Given the description of an element on the screen output the (x, y) to click on. 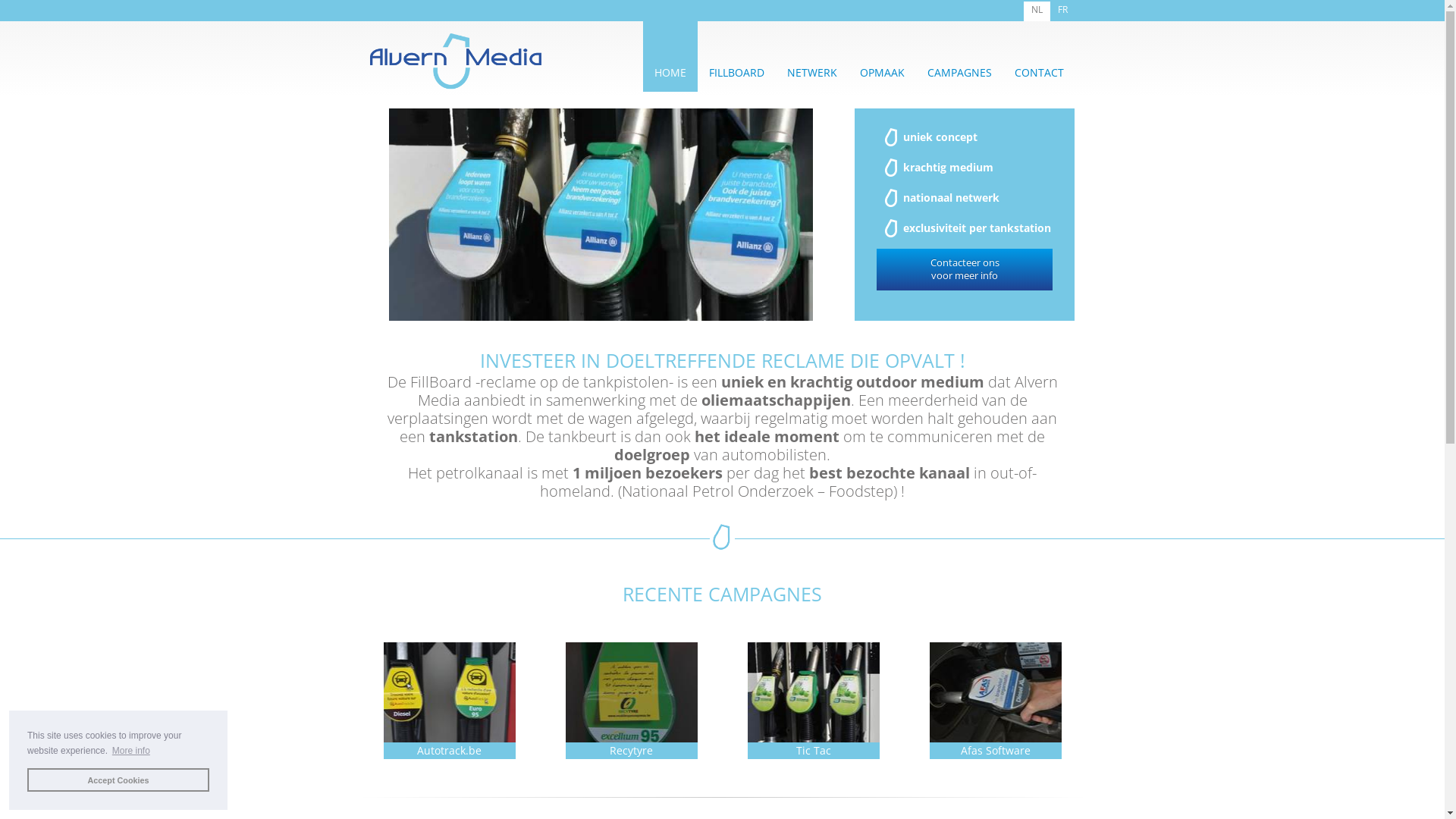
Contacteer ons
voor meer info Element type: text (964, 269)
Recytyre Element type: text (631, 693)
uniek concept Element type: text (940, 136)
HOME Element type: text (670, 72)
krachtig medium Element type: text (948, 167)
FILLBOARD Element type: text (736, 72)
NETWERK Element type: text (811, 72)
Accept Cookies Element type: text (118, 779)
CAMPAGNES Element type: text (959, 72)
OPMAAK Element type: text (881, 72)
CONTACT Element type: text (1038, 72)
Autotrack.be Element type: text (449, 693)
FR Element type: text (1061, 11)
More info Element type: text (130, 750)
Afas Software Element type: text (995, 693)
Alvern media logo | fillboards in tankstations reclame Element type: hover (457, 60)
Tic Tac Element type: text (813, 693)
nationaal netwerk Element type: text (951, 197)
